Given the description of an element on the screen output the (x, y) to click on. 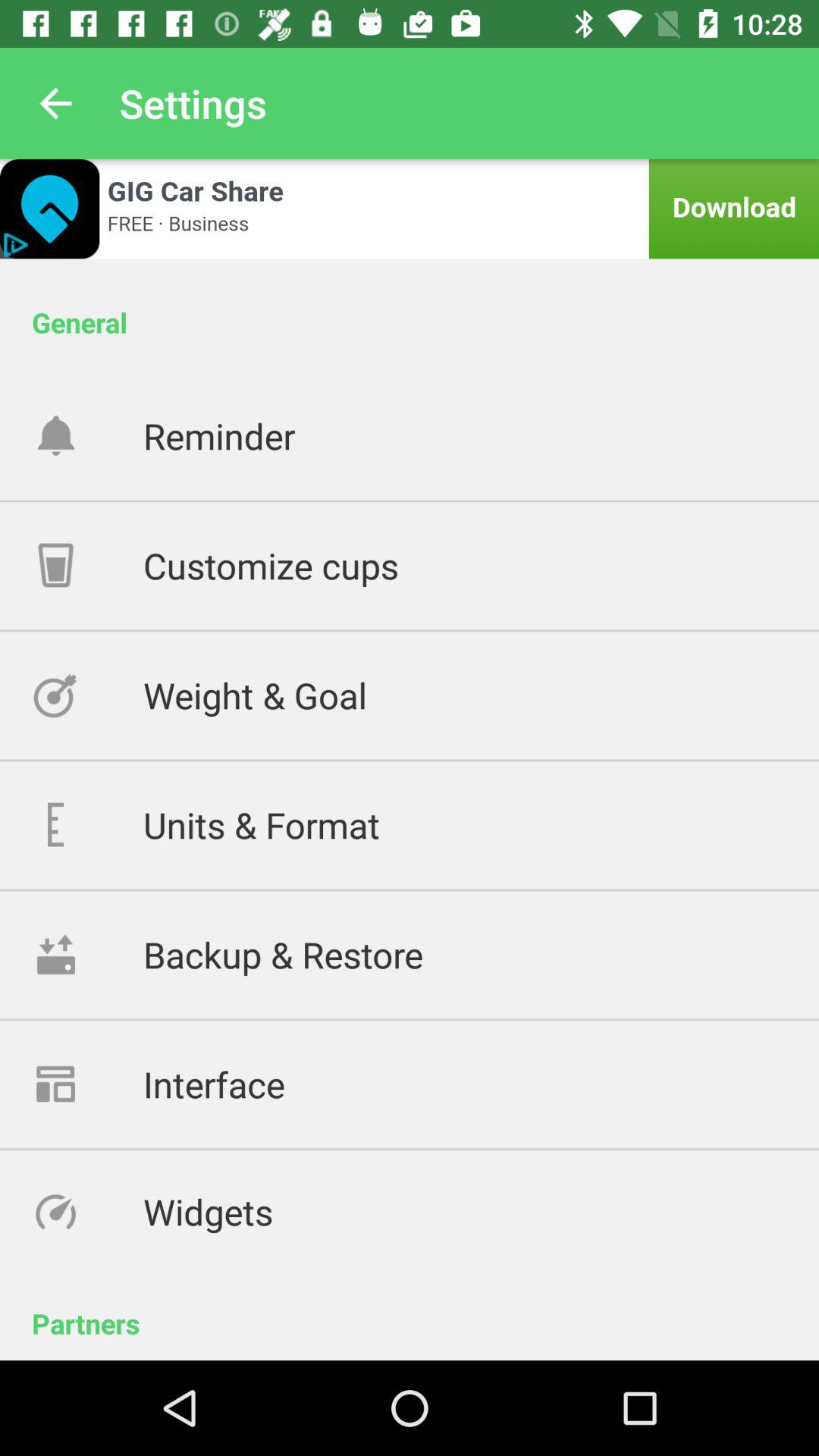
open the item above general icon (409, 208)
